Given the description of an element on the screen output the (x, y) to click on. 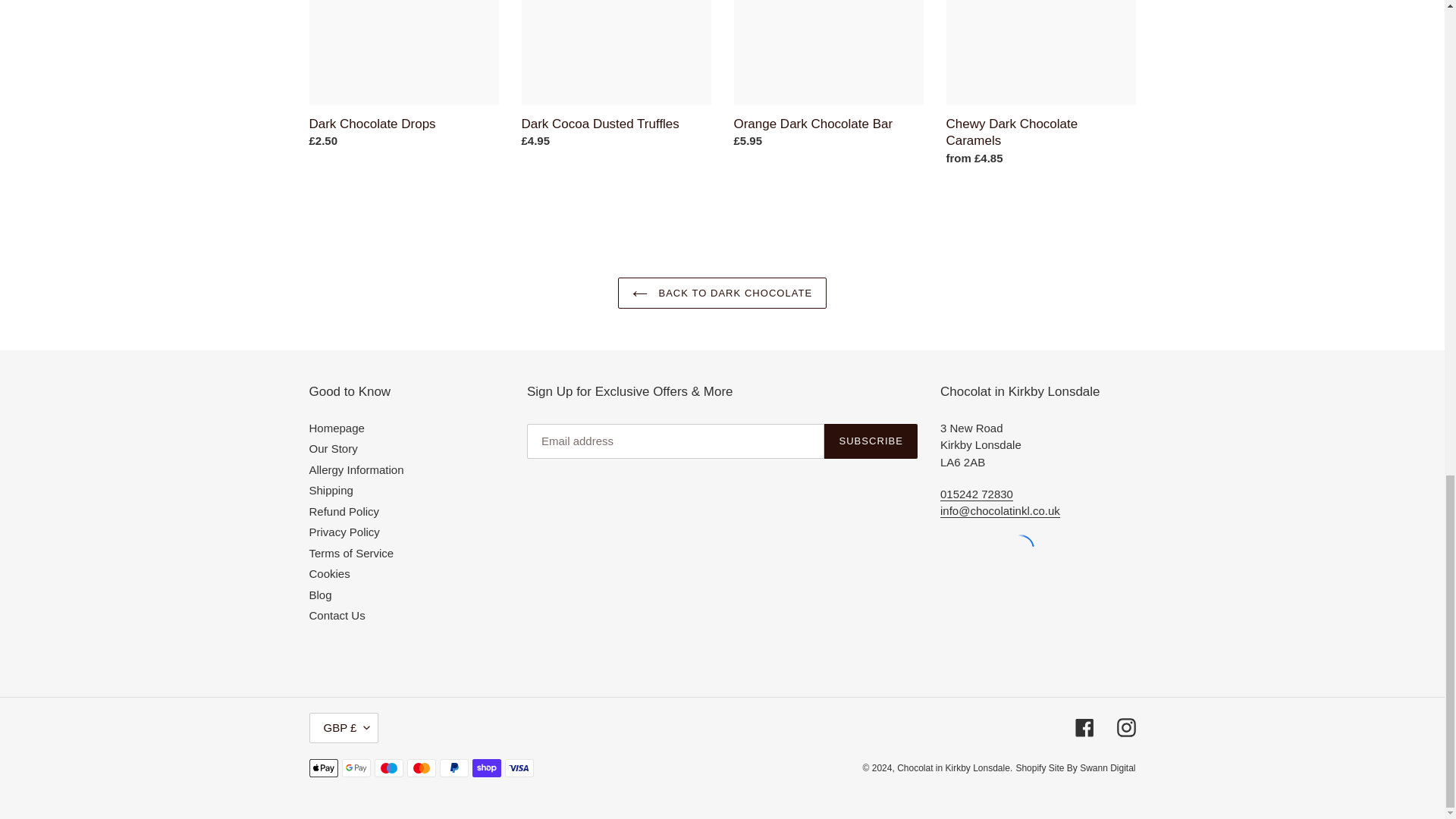
Contact (999, 510)
Contact (976, 494)
Google Review Widget (1019, 548)
